Given the description of an element on the screen output the (x, y) to click on. 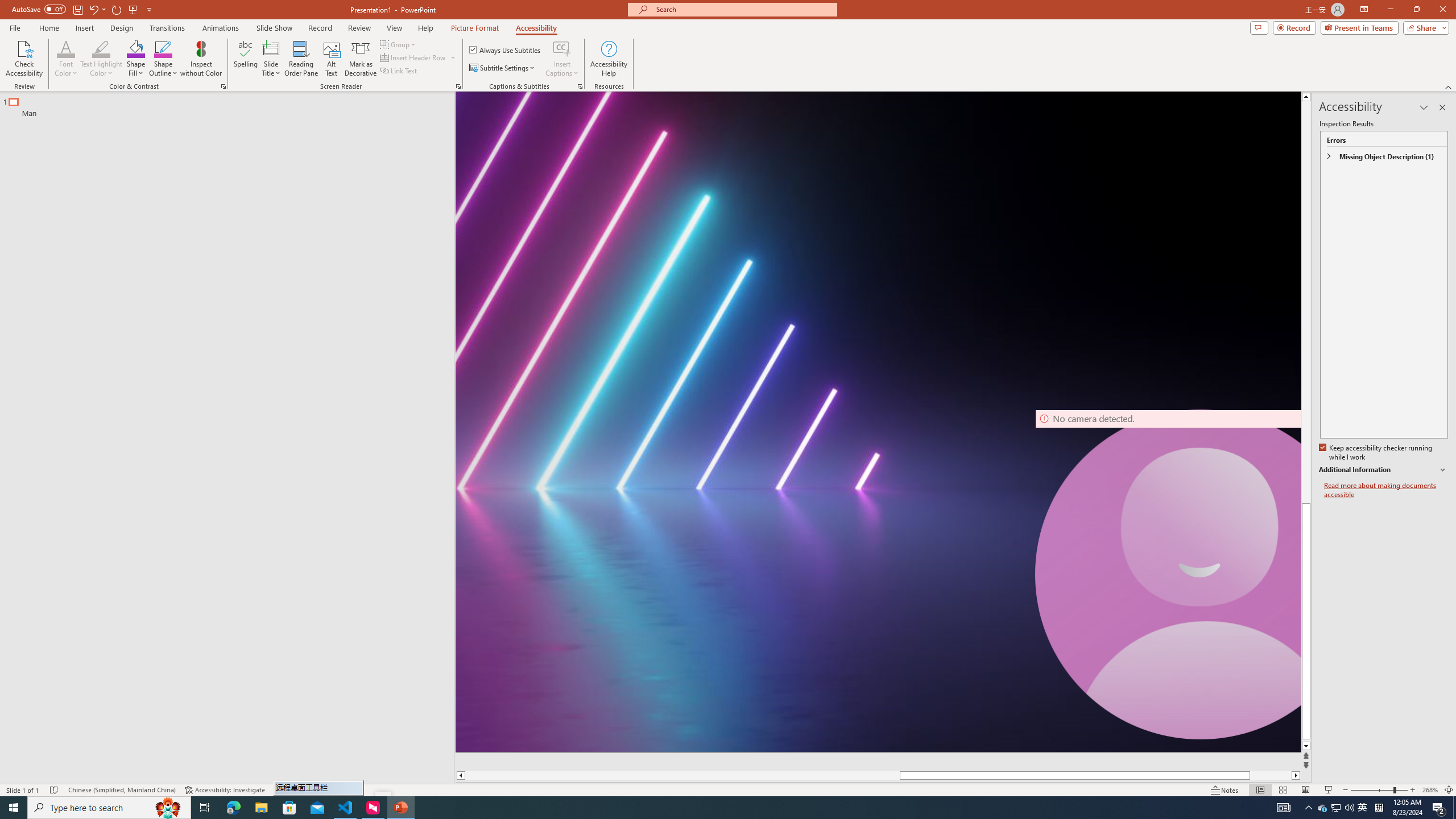
Insert Header Row (418, 56)
More Options (561, 68)
From Beginning (133, 9)
Outline (231, 104)
Slide Sorter (1282, 790)
Minimize (1390, 9)
Save (77, 9)
Notes  (1225, 790)
Color & Contrast (223, 85)
Accessibility (536, 28)
Shape Outline Blue, Accent 1 (163, 48)
Inspect without Color (201, 58)
Rectangle (221, 437)
Font Color (65, 48)
